Given the description of an element on the screen output the (x, y) to click on. 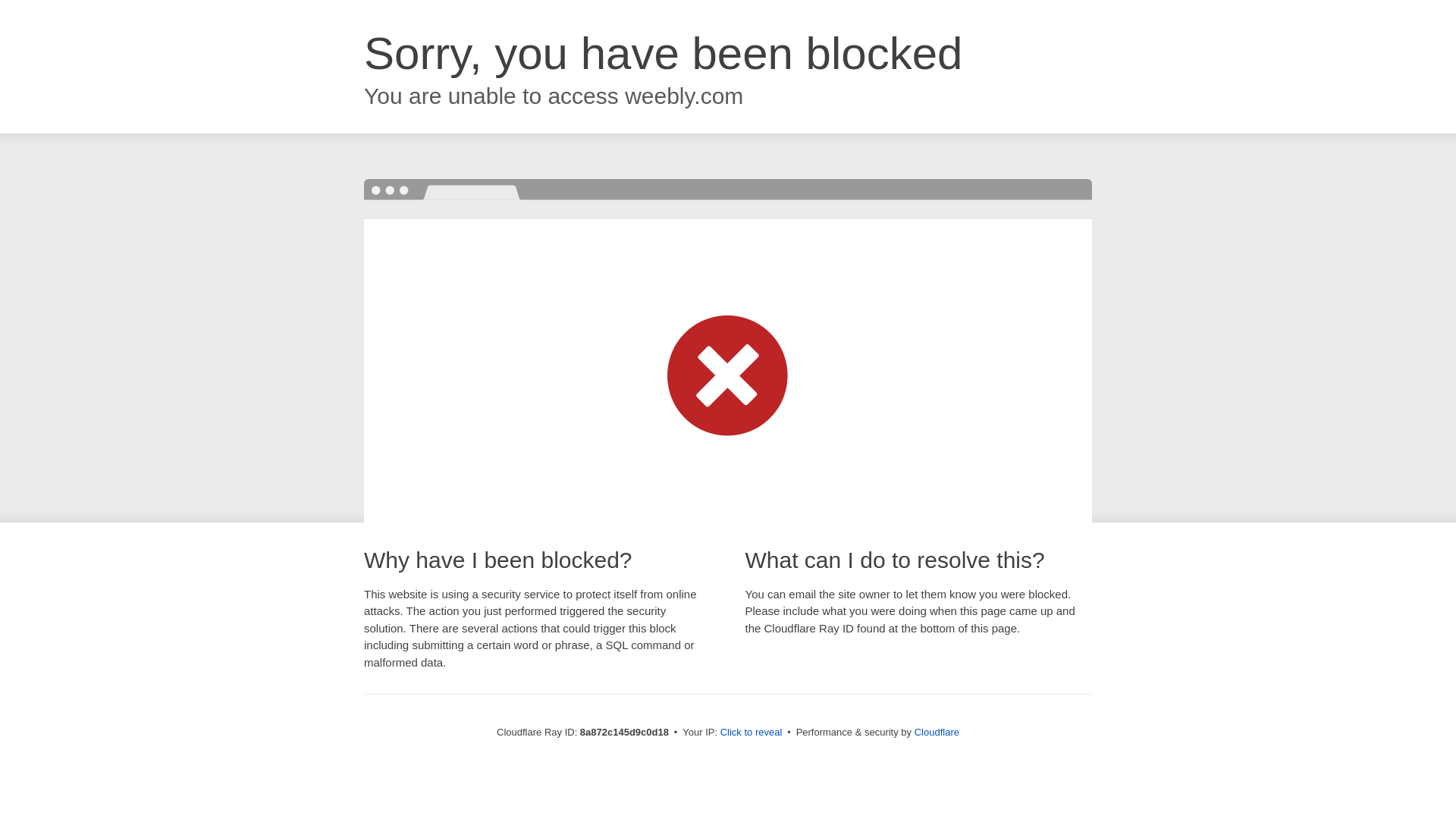
Click to reveal (751, 732)
Cloudflare (936, 731)
